Given the description of an element on the screen output the (x, y) to click on. 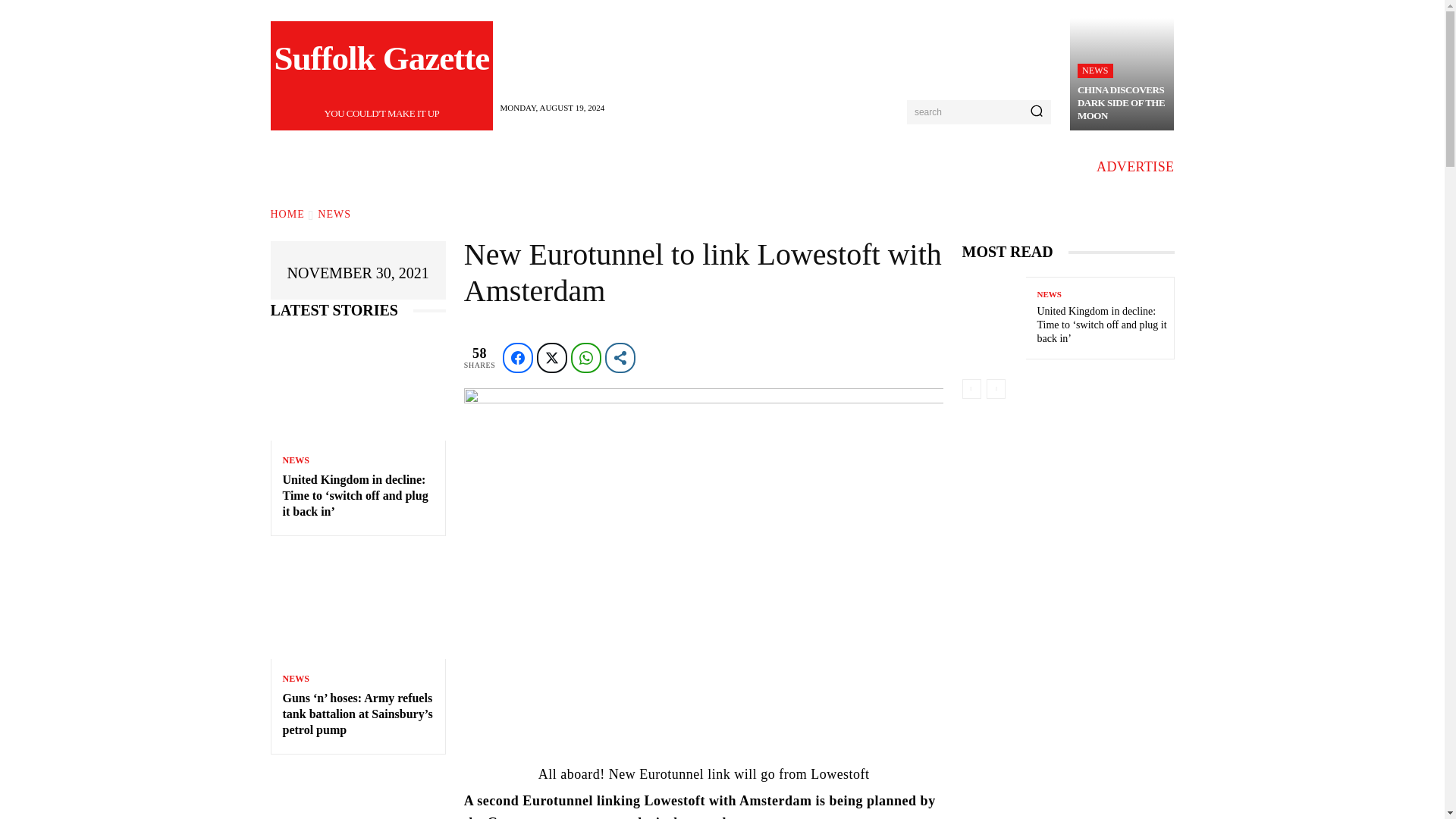
CHINA DISCOVERS DARK SIDE OF THE MOON (1120, 102)
HOME (286, 214)
ADVERTISE (1135, 166)
View all posts in News (333, 214)
NEWS (1095, 70)
China discovers Dark Side of the Moon (1122, 74)
China discovers Dark Side of the Moon (382, 76)
